Given the description of an element on the screen output the (x, y) to click on. 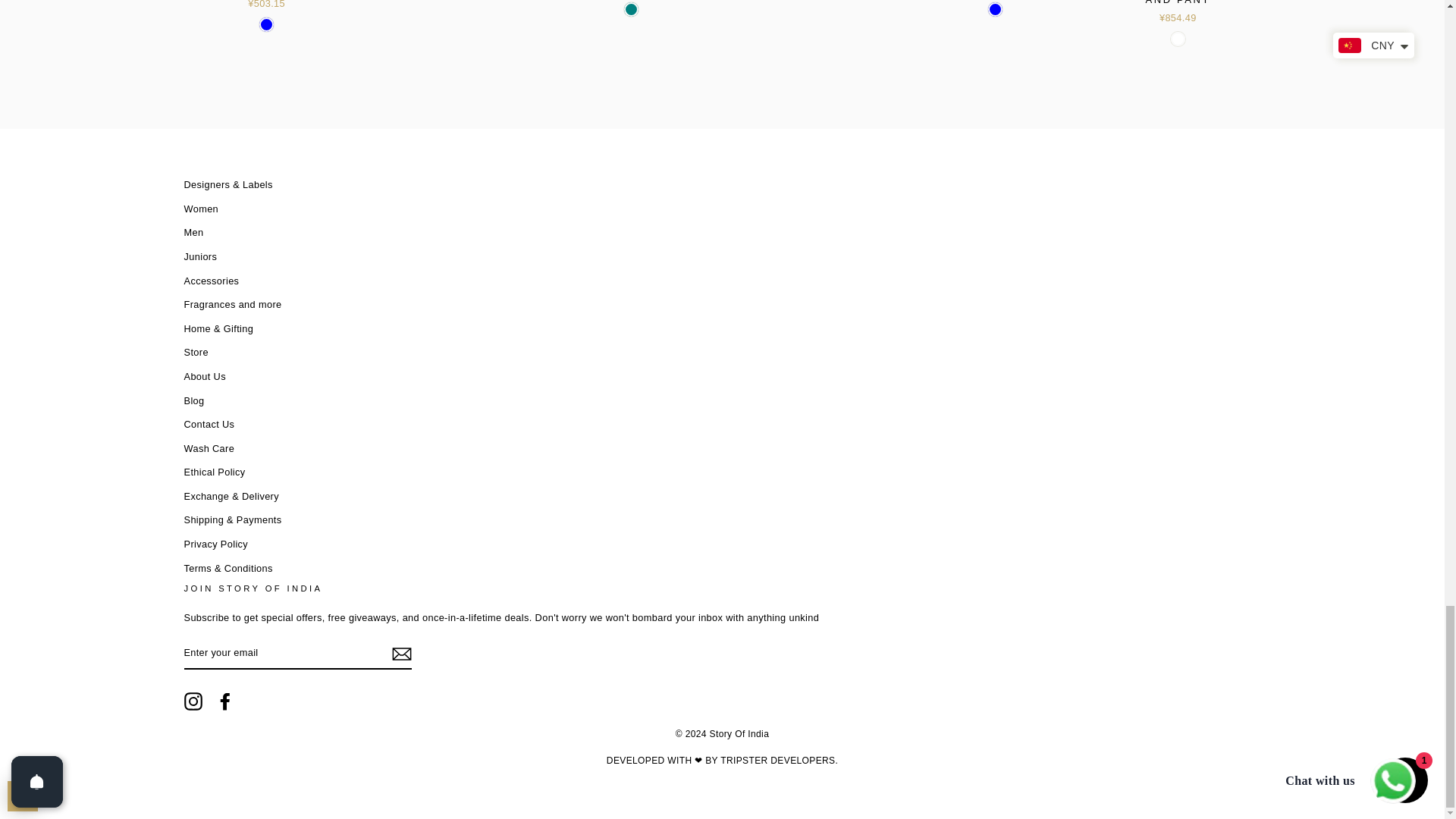
Story Of India on Instagram (192, 701)
Story Of India on Facebook (224, 701)
